Given the description of an element on the screen output the (x, y) to click on. 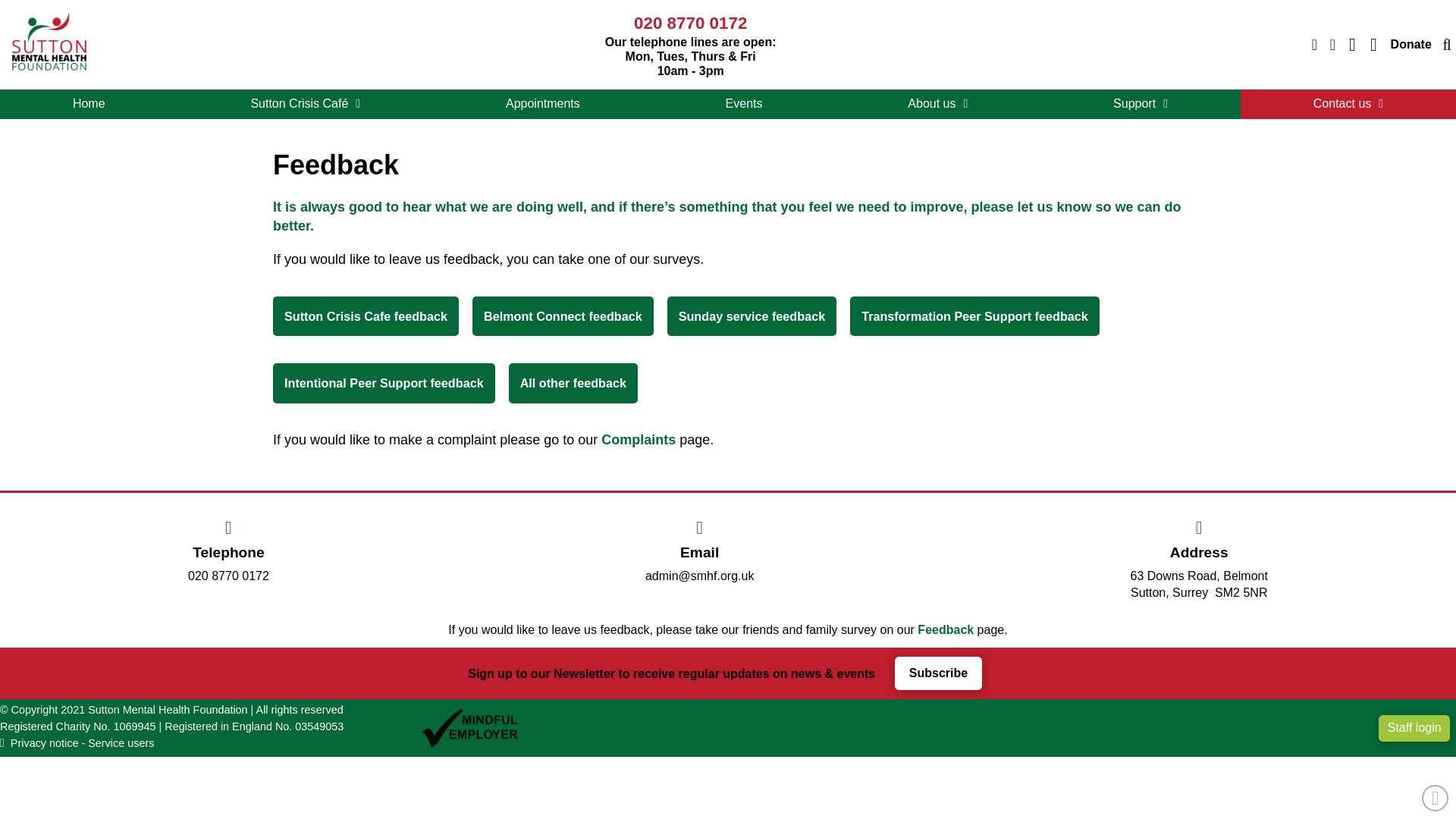
Back to Top (1435, 797)
Events (743, 103)
Home (88, 103)
Belmont Connect feedback (562, 316)
Sutton Crisis Cafe feedback (365, 316)
About us (937, 103)
Support (1140, 103)
Appointments (542, 103)
Donate (1411, 44)
